Given the description of an element on the screen output the (x, y) to click on. 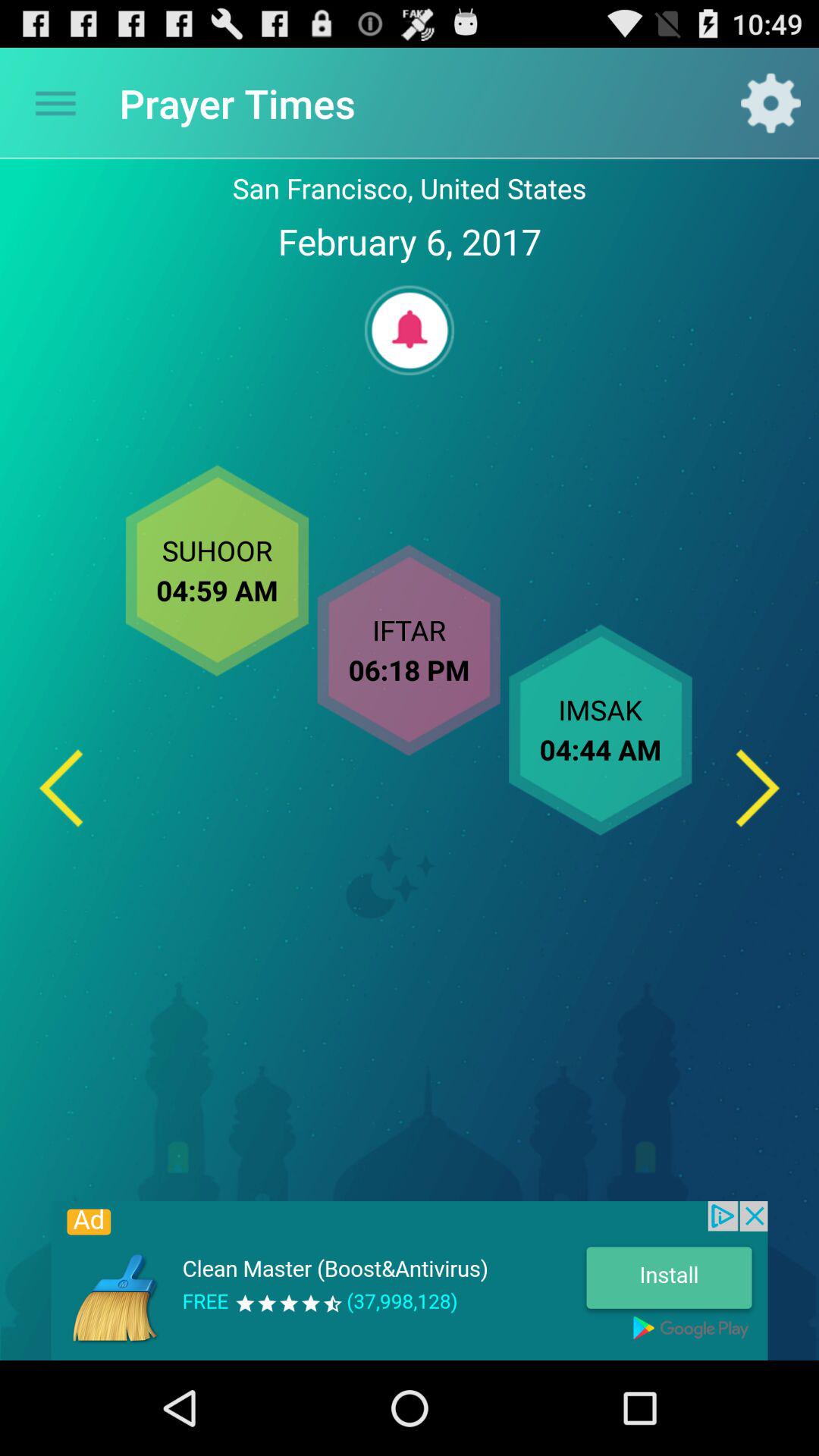
go to previous (60, 787)
